Given the description of an element on the screen output the (x, y) to click on. 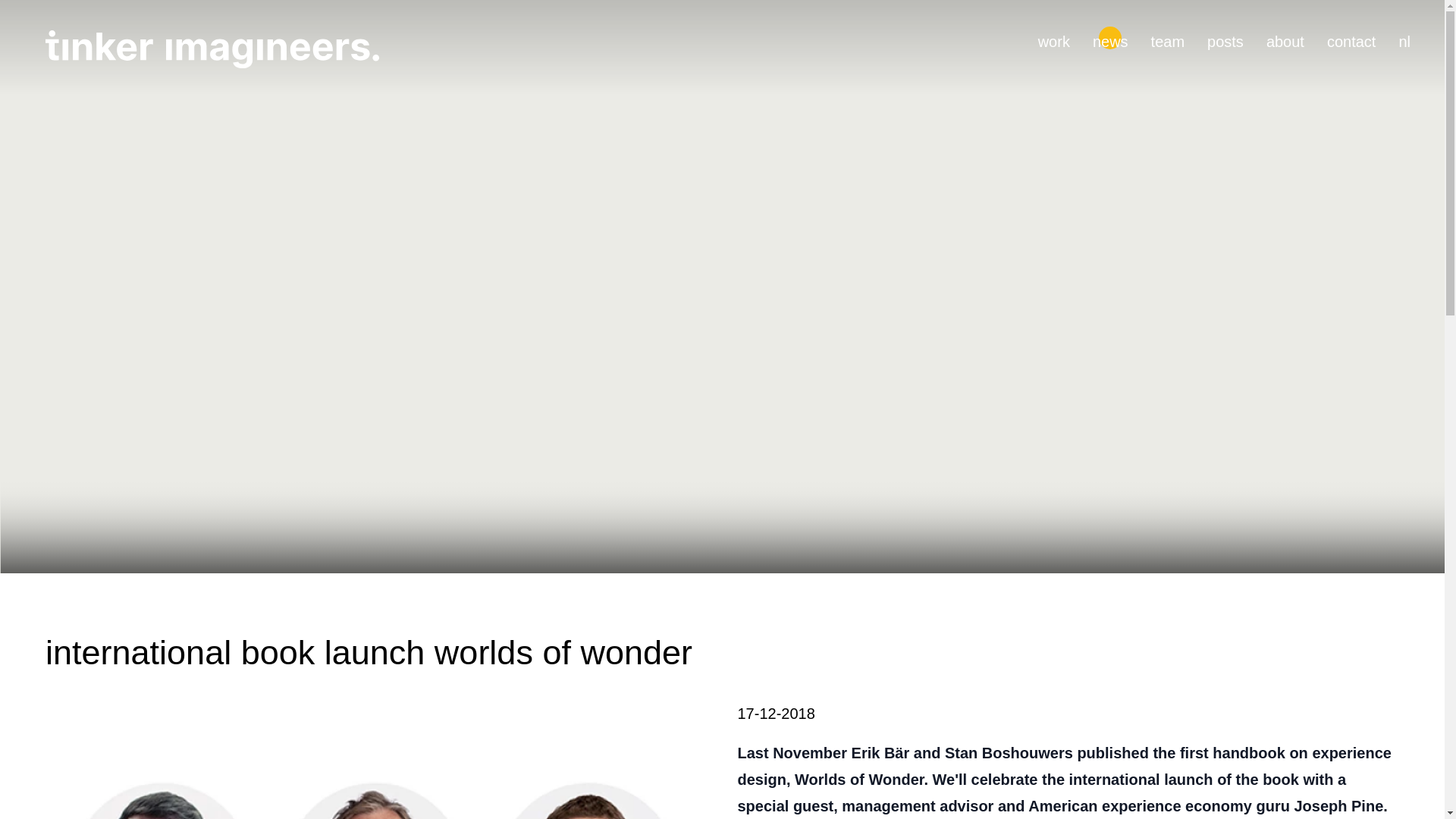
about (1285, 39)
work (1054, 39)
posts (1225, 39)
contact (1350, 39)
news (1110, 39)
team (1168, 39)
